Given the description of an element on the screen output the (x, y) to click on. 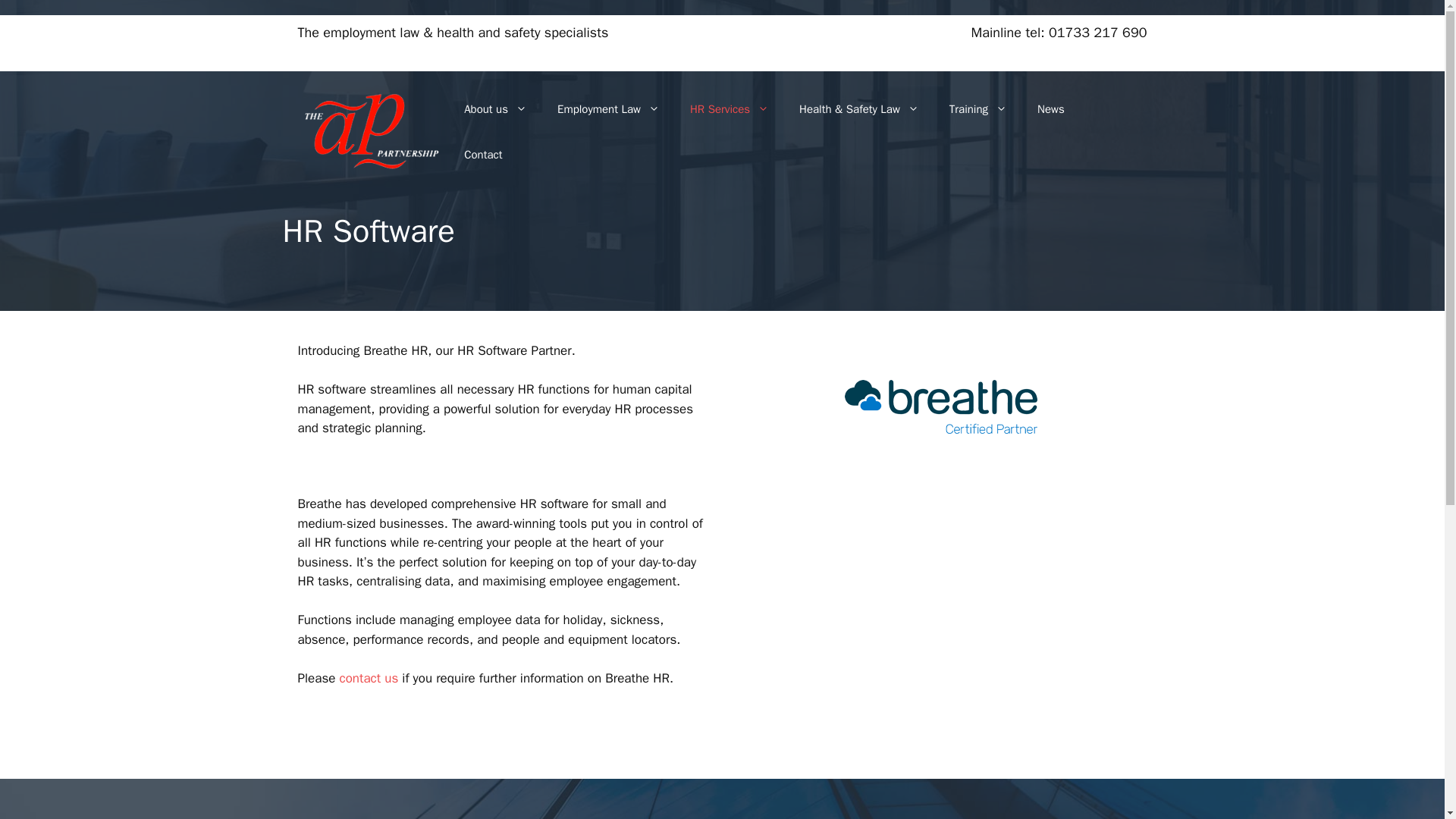
Contact (482, 154)
This is Breathe - Cloud HR software (941, 609)
Training (978, 108)
About us (494, 108)
HR Services (729, 108)
Employment Law (608, 108)
News (1051, 108)
